Given the description of an element on the screen output the (x, y) to click on. 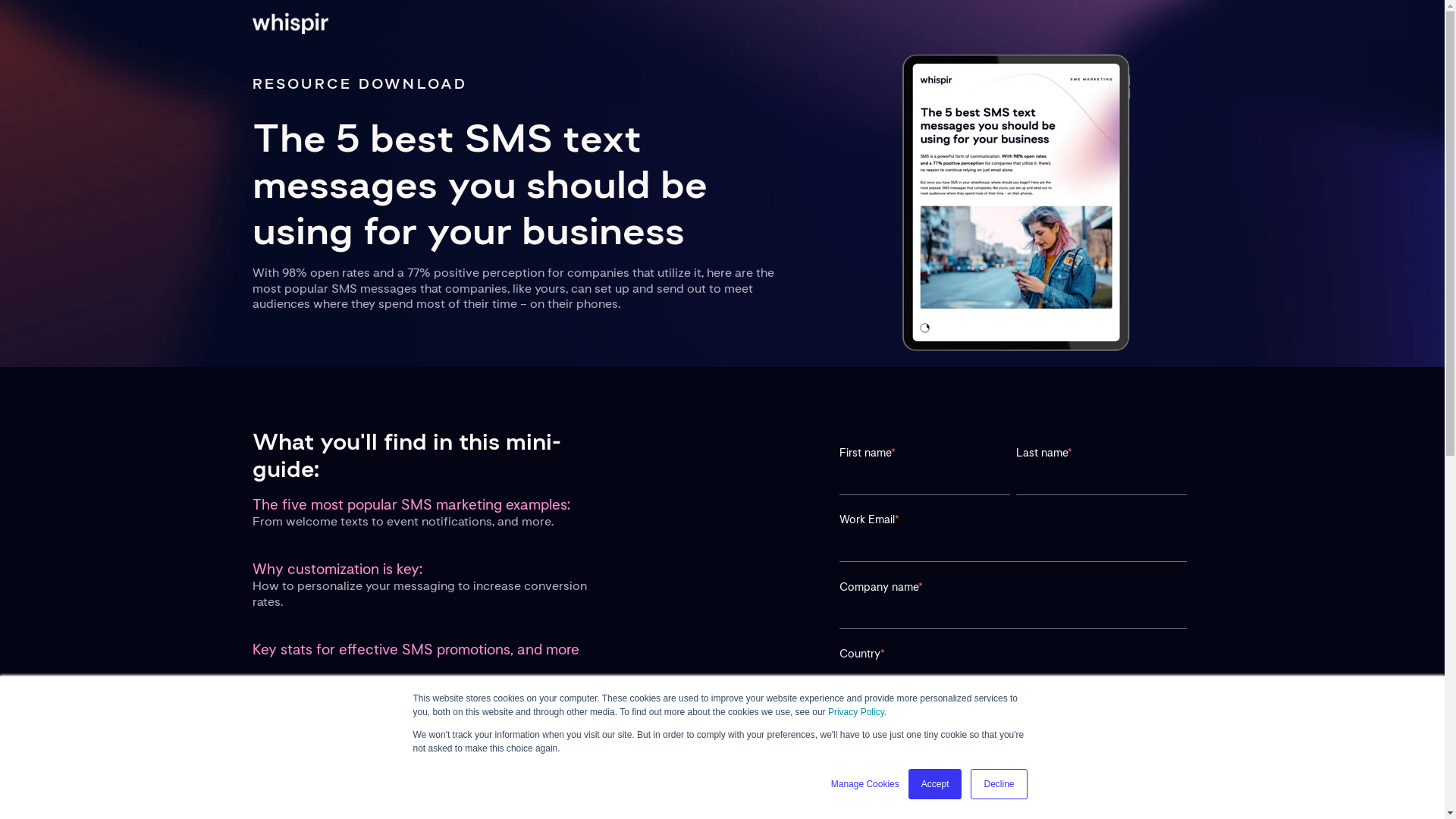
Privacy Policy (855, 711)
Page 1 (522, 287)
Accept (935, 784)
Decline (998, 784)
Manage Cookies (865, 784)
